Given the description of an element on the screen output the (x, y) to click on. 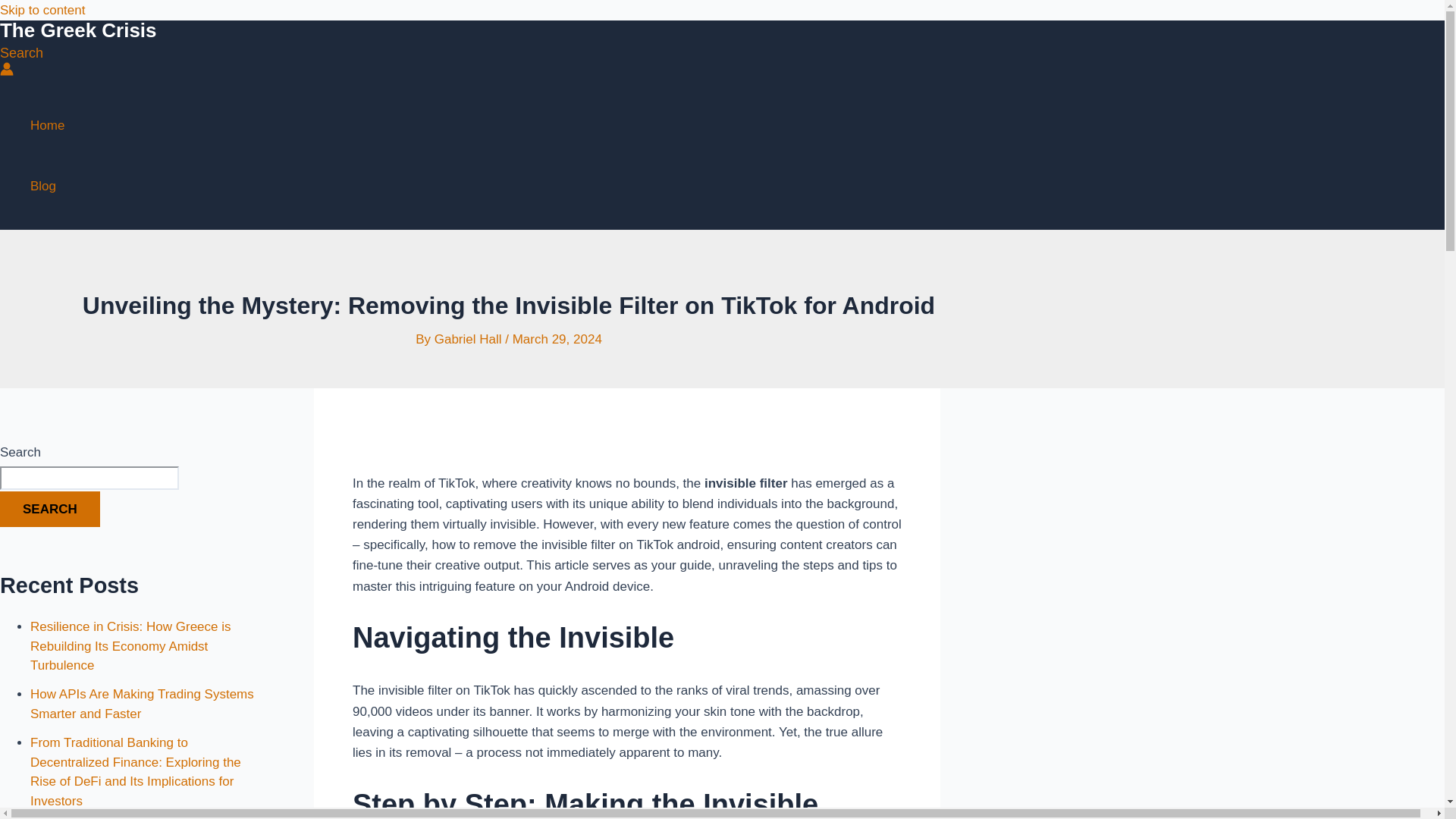
The Greek Crisis (78, 29)
SEARCH (50, 509)
View all posts by  (469, 339)
Skip to content (42, 10)
Skip to content (42, 10)
How APIs Are Making Trading Systems Smarter and Faster (141, 704)
Gabriel Hall (469, 339)
Search (21, 53)
